Given the description of an element on the screen output the (x, y) to click on. 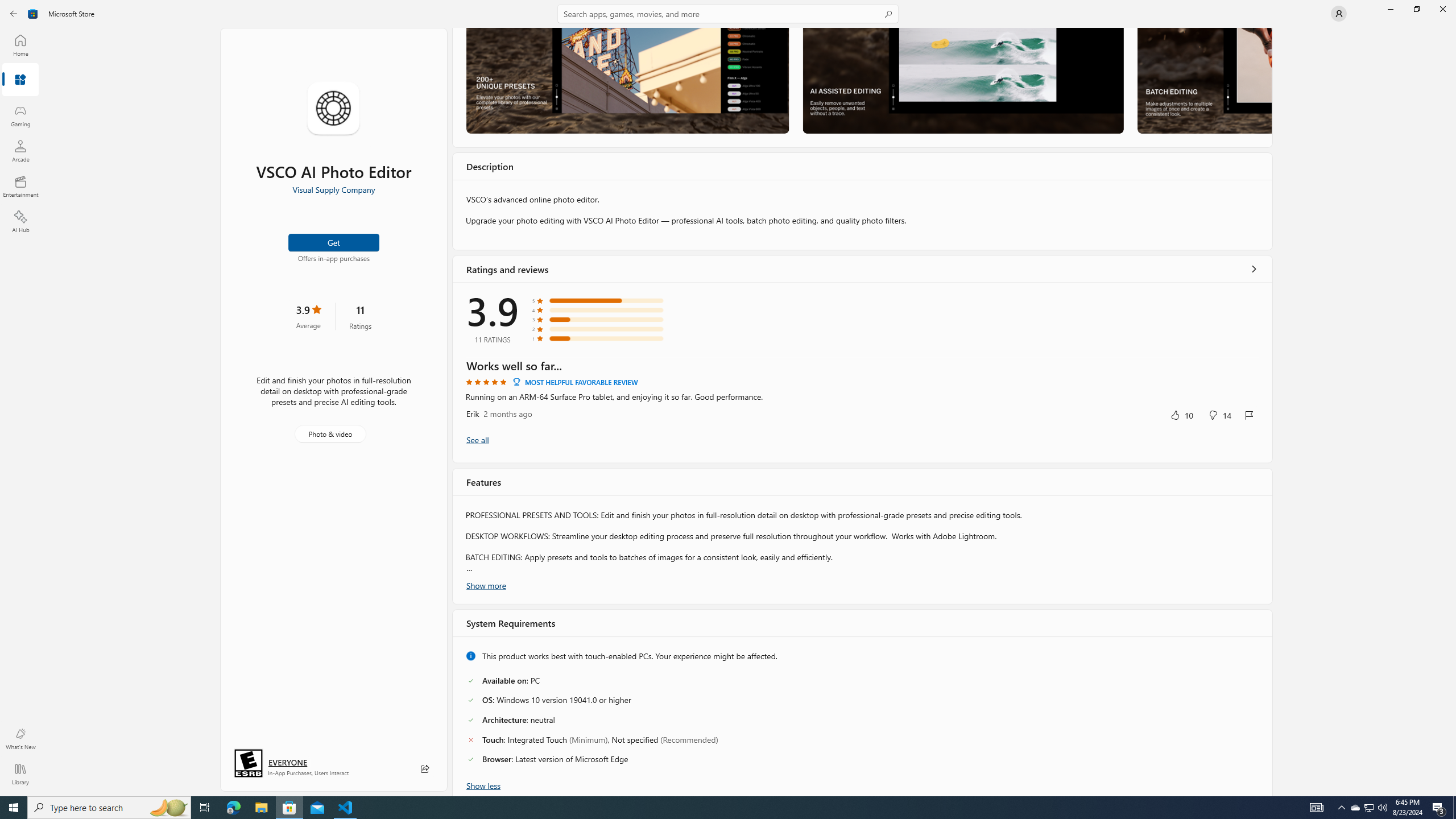
Show more (485, 584)
